Given the description of an element on the screen output the (x, y) to click on. 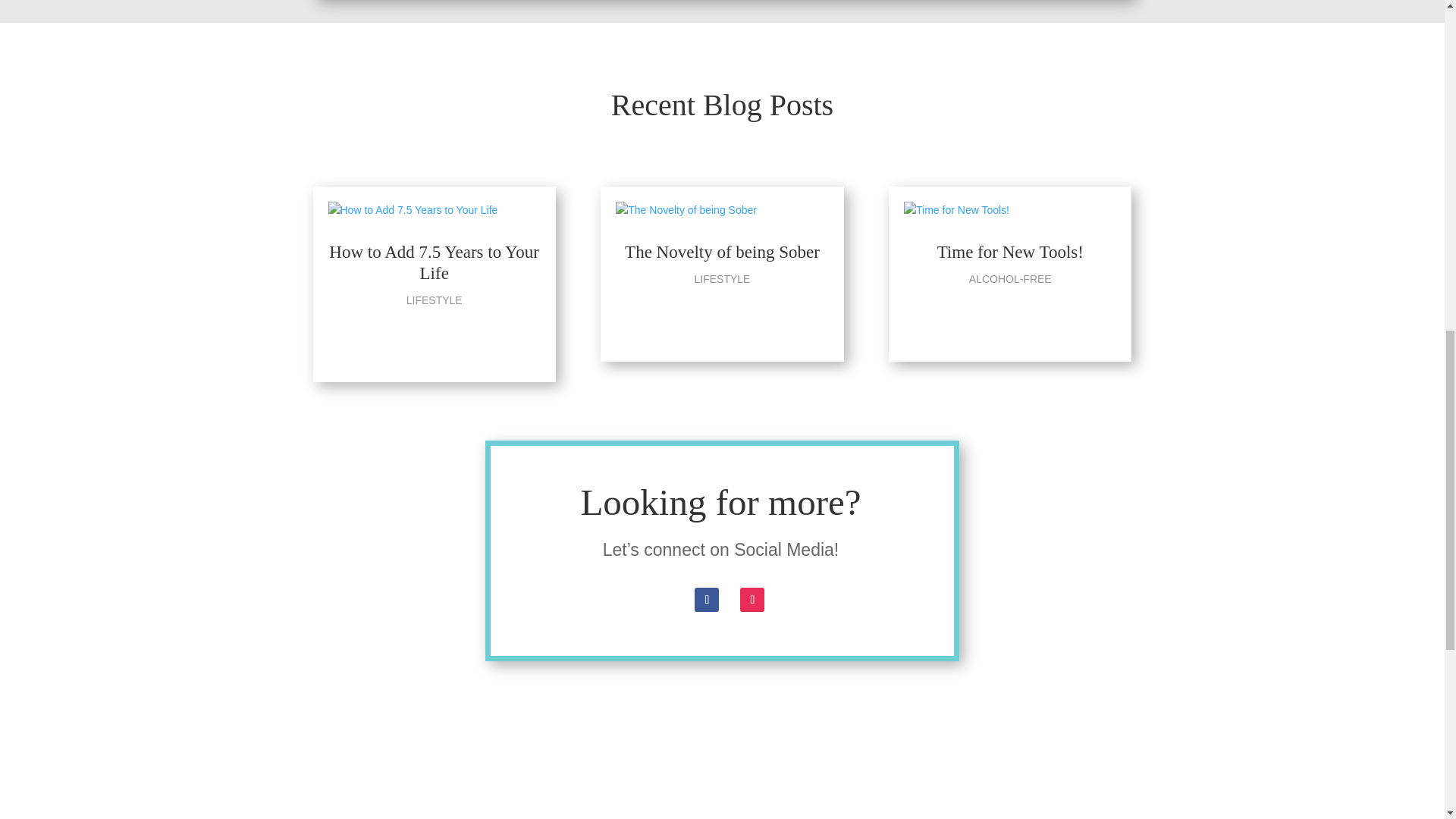
Time for New Tools! (1010, 251)
LIFESTYLE (434, 300)
LIFESTYLE (722, 278)
Follow on Facebook (706, 599)
How to Add 7.5 Years to Your Life (433, 262)
The Novelty of being Sober (721, 251)
Follow on Instagram (751, 599)
ALCOHOL-FREE (1010, 278)
